Given the description of an element on the screen output the (x, y) to click on. 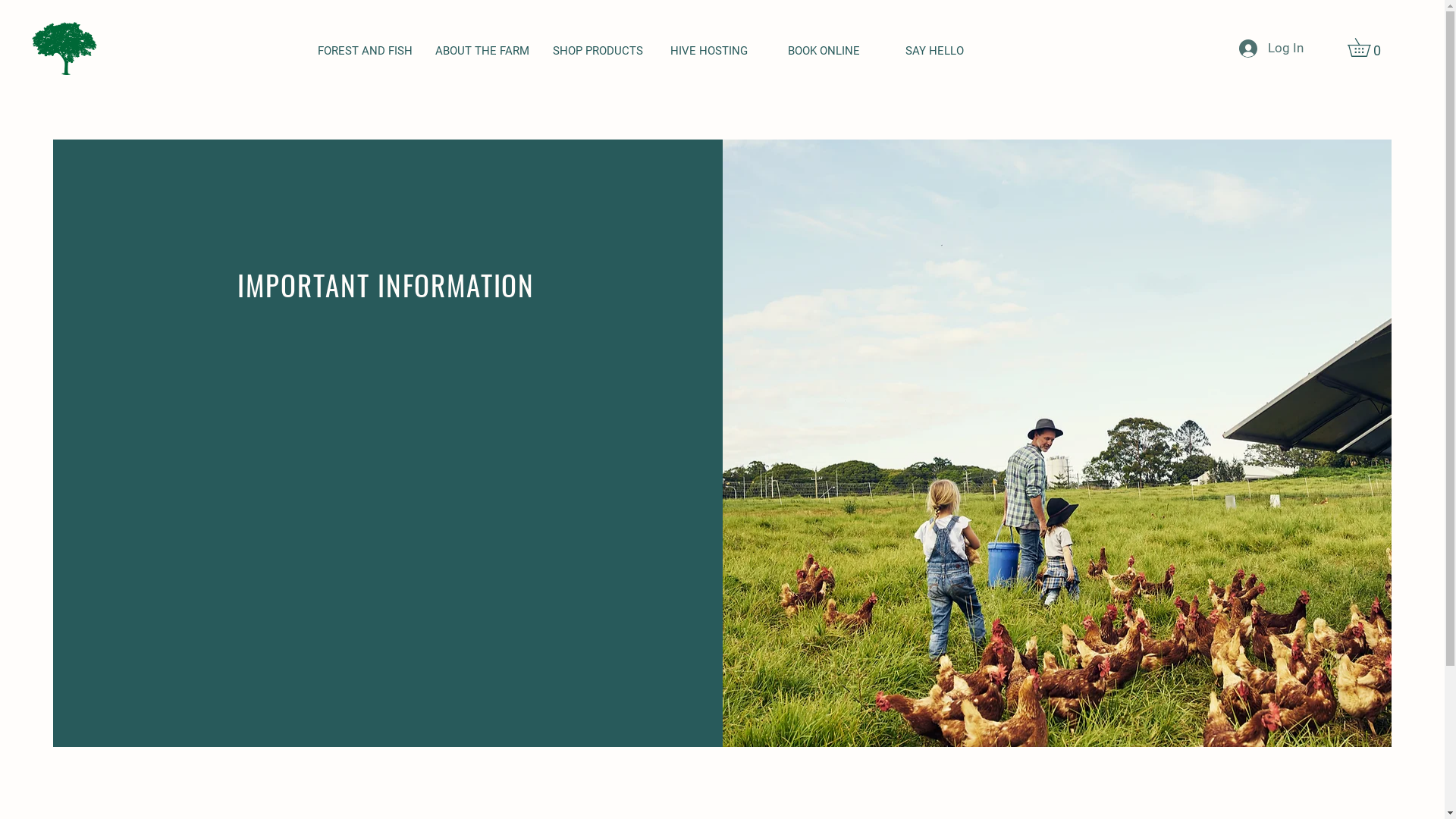
HIVE HOSTING Element type: text (716, 50)
Log In Element type: text (1271, 48)
ABOUT THE FARM Element type: text (481, 50)
FOREST AND FISH Element type: text (364, 50)
SAY HELLO Element type: text (951, 50)
BOOK ONLINE Element type: text (835, 50)
0 Element type: text (1367, 46)
SHOP PRODUCTS Element type: text (599, 50)
